Given the description of an element on the screen output the (x, y) to click on. 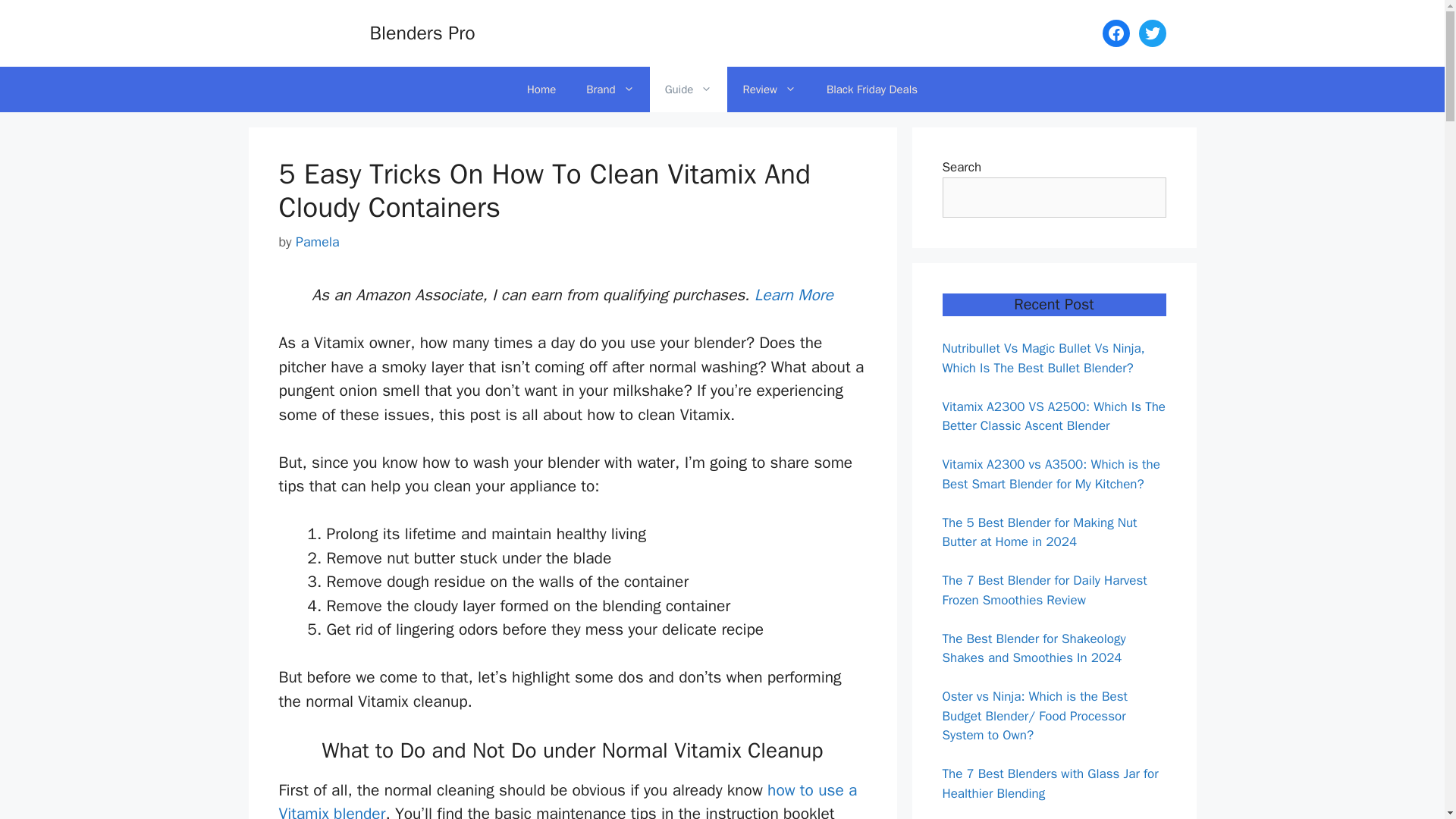
Facebook (1115, 32)
Home (541, 89)
Guide (688, 89)
Learn More (793, 294)
Black Friday Deals (871, 89)
Pamela (317, 241)
Review (768, 89)
how to use a Vitamix blender (568, 799)
Brand (609, 89)
View all posts by Pamela (317, 241)
